Given the description of an element on the screen output the (x, y) to click on. 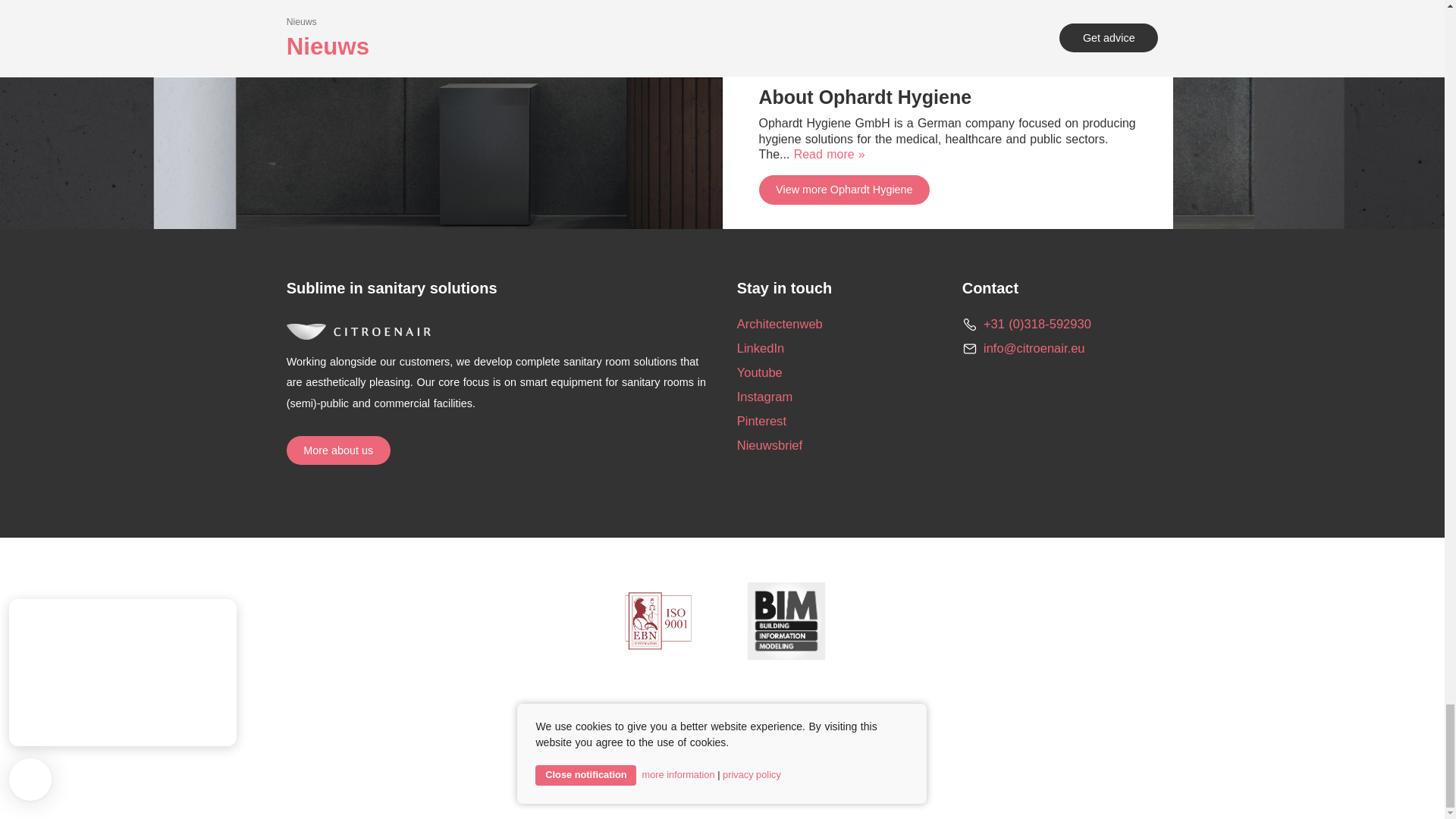
More about us (338, 450)
Youtube (759, 372)
26 beoordelingen (813, 787)
View more Ophardt Hygiene (844, 189)
Nieuwsbrief (769, 445)
Instagram (764, 396)
Disclaimer (866, 722)
Privacy statement (767, 722)
General terms and conditions (622, 722)
LinkedIn (760, 348)
Pinterest (761, 421)
Architectenweb (779, 323)
